Given the description of an element on the screen output the (x, y) to click on. 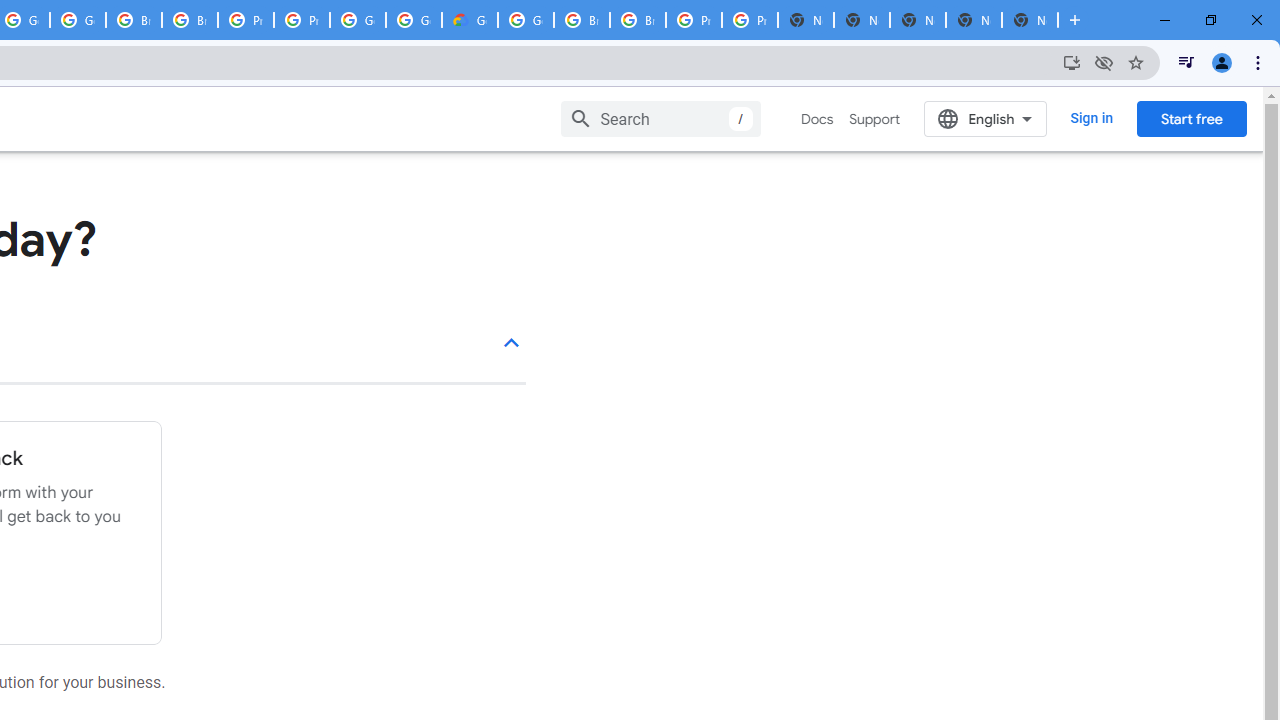
Browse Chrome as a guest - Computer - Google Chrome Help (582, 20)
Bookmark this tab (1135, 62)
Browse Chrome as a guest - Computer - Google Chrome Help (637, 20)
Install Google Cloud (1071, 62)
New Tab (1030, 20)
Minimize (1165, 20)
Start free (1191, 118)
Control your music, videos, and more (1185, 62)
Google Cloud Platform (525, 20)
Docs (817, 119)
Google Cloud Platform (413, 20)
Search (660, 118)
English (985, 118)
